Given the description of an element on the screen output the (x, y) to click on. 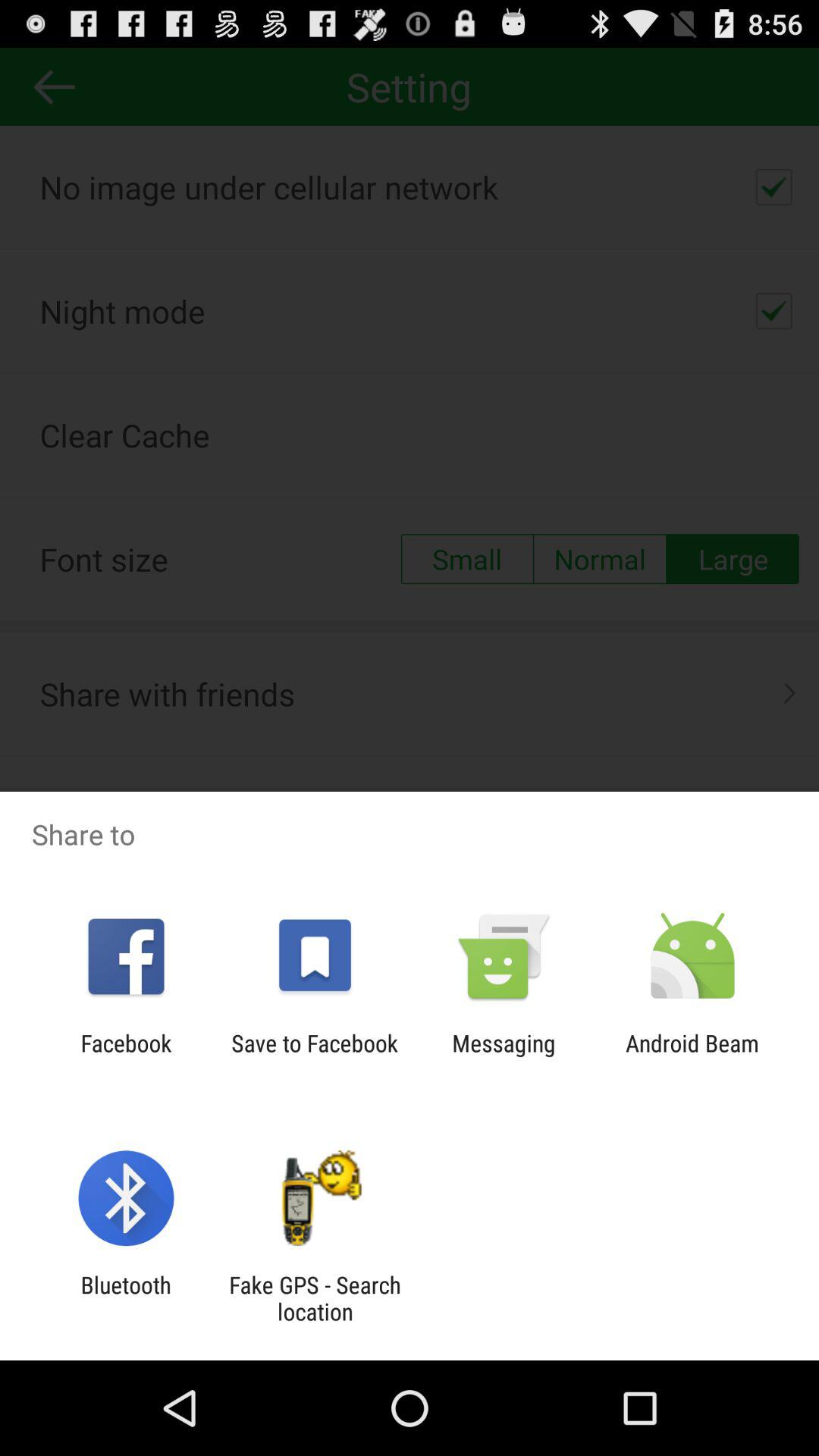
jump to the fake gps search item (314, 1298)
